Given the description of an element on the screen output the (x, y) to click on. 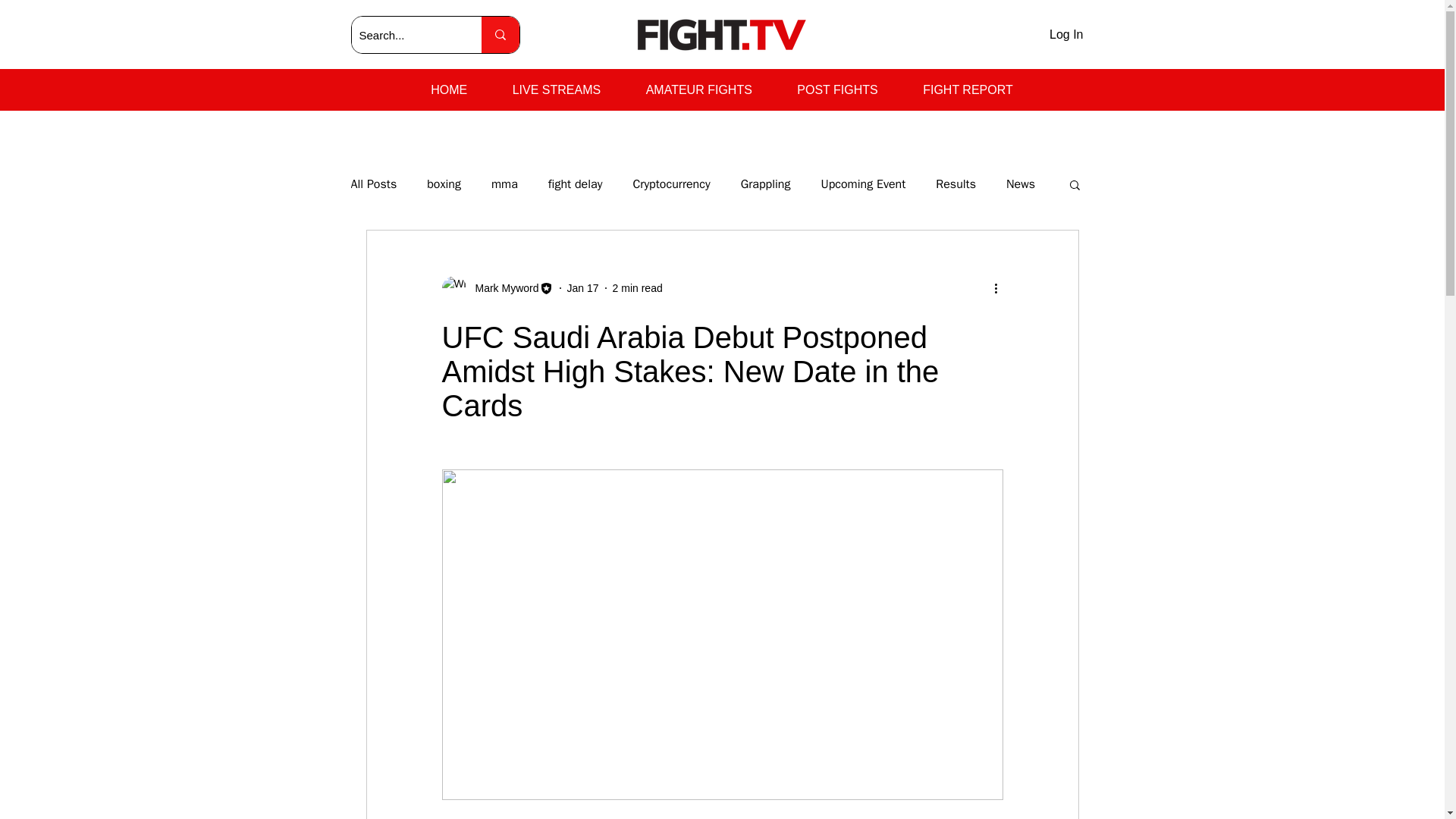
Jan 17 (582, 287)
HOME (448, 90)
News (1020, 183)
Upcoming Event (863, 183)
boxing (443, 183)
Cryptocurrency (670, 183)
POST FIGHTS (837, 90)
mma (505, 183)
Log In (1066, 34)
Mark Myword (497, 288)
Results (955, 183)
Mark Myword (501, 288)
Grappling (765, 183)
FIGHT REPORT (967, 90)
AMATEUR FIGHTS (698, 90)
